Given the description of an element on the screen output the (x, y) to click on. 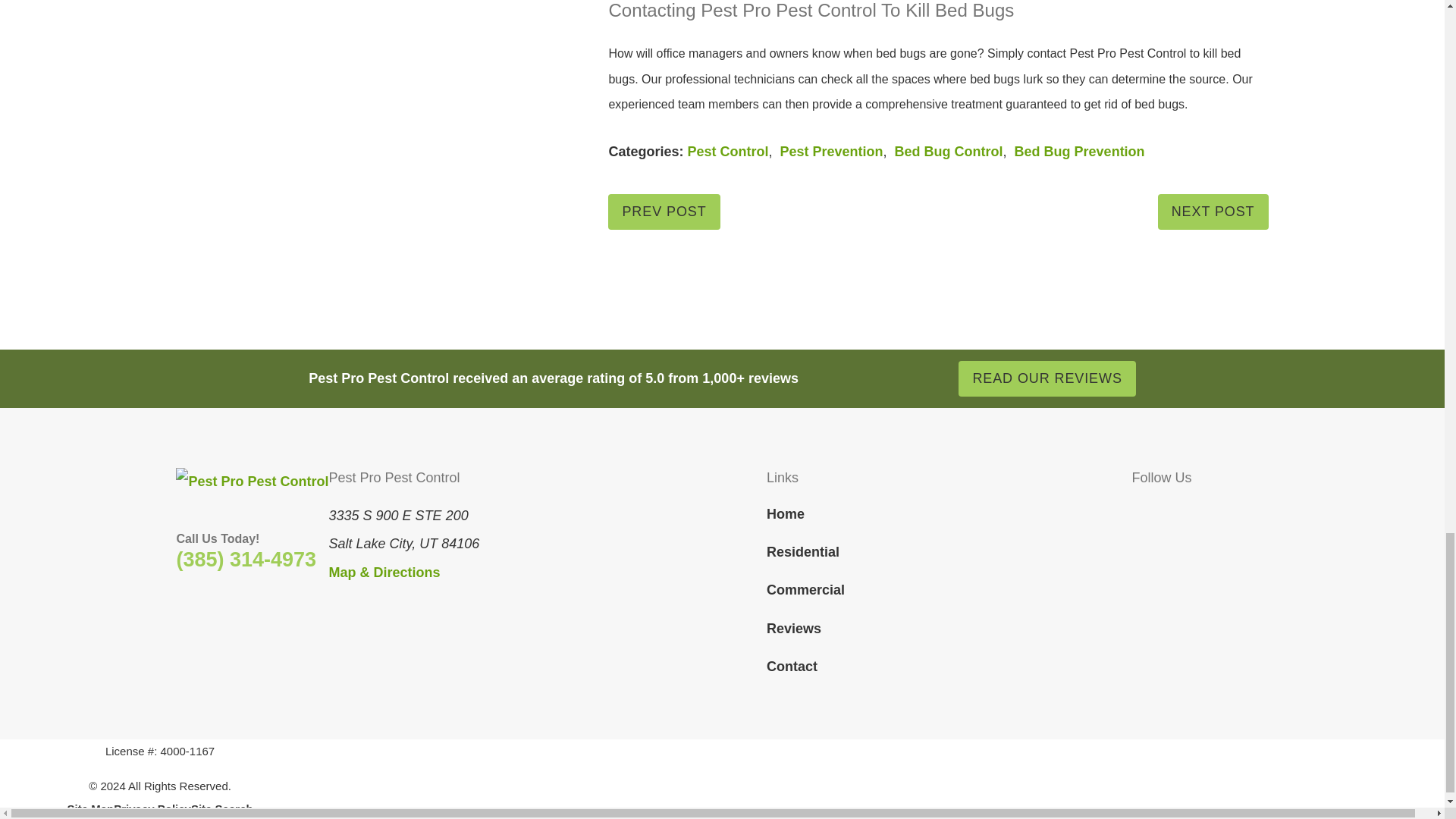
Home (252, 481)
Star Rating (865, 378)
Yelp (1169, 511)
Facebook (1141, 511)
Instagram (1200, 511)
Angie's List (1258, 511)
Google Business Profile (1229, 511)
